Given the description of an element on the screen output the (x, y) to click on. 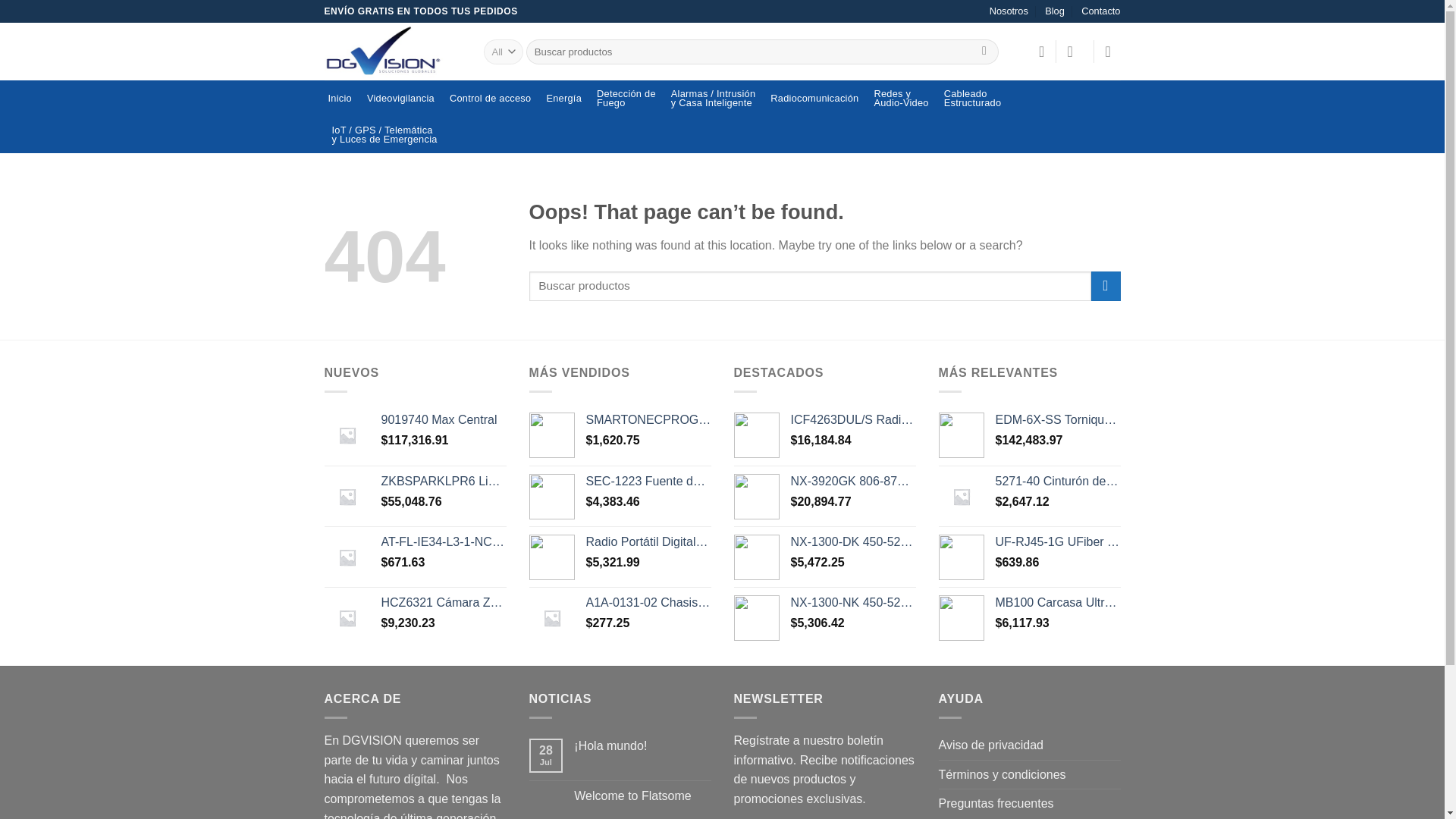
9019740 Max Central (442, 420)
Welcome to Flatsome (641, 795)
A1A-0131-02 Chasis para serie de radios NX-1000 (900, 98)
Control de acceso (647, 602)
Videovigilancia (490, 98)
Contacto (400, 98)
Buscar (1100, 11)
SEC-1223 Fuente de poder 13.8V, 23A, conmutada (973, 98)
Skip to content (984, 52)
Nosotros (647, 481)
